Given the description of an element on the screen output the (x, y) to click on. 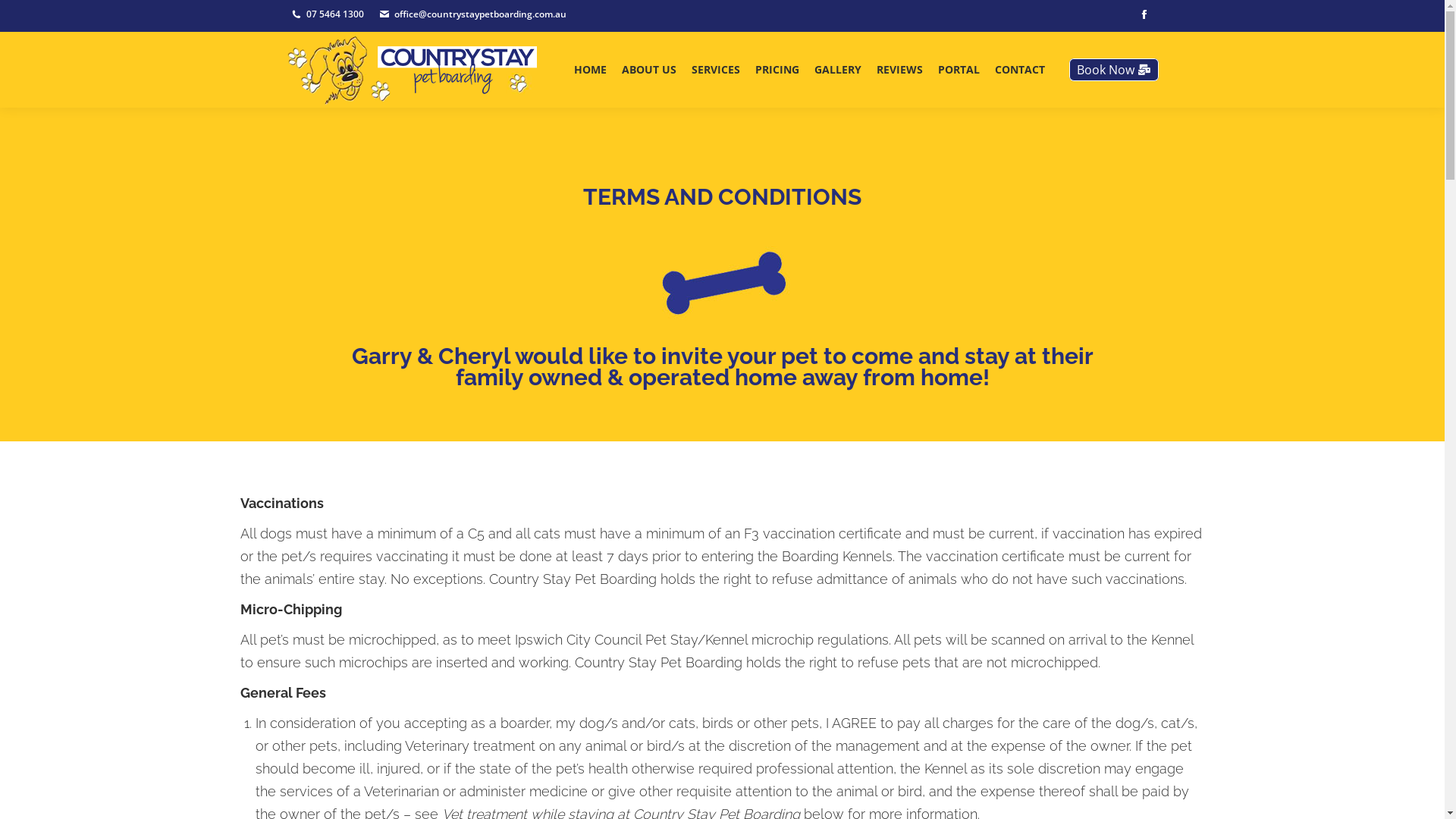
REVIEWS Element type: text (898, 69)
Book Now Element type: text (1113, 69)
Facebook page opens in new window Element type: text (1144, 14)
PRICING Element type: text (776, 69)
PORTAL Element type: text (958, 69)
HOME Element type: text (590, 69)
office@countrystaypetboarding.com.au Element type: text (480, 14)
07 5464 1300 Element type: text (335, 14)
CONTACT Element type: text (1019, 69)
ABOUT US Element type: text (648, 69)
GALLERY Element type: text (836, 69)
SERVICES Element type: text (715, 69)
